Given the description of an element on the screen output the (x, y) to click on. 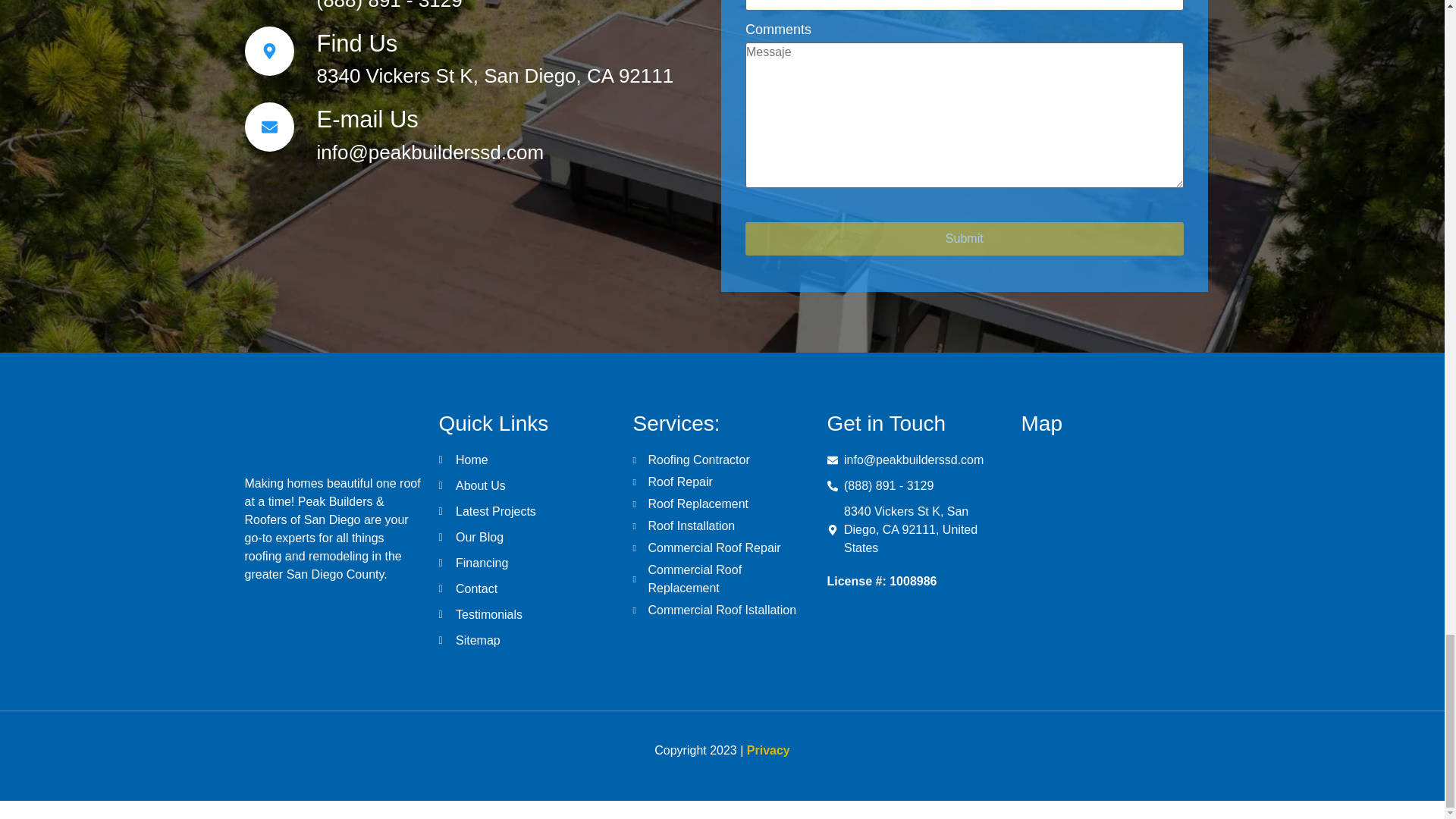
Submit (964, 238)
